Given the description of an element on the screen output the (x, y) to click on. 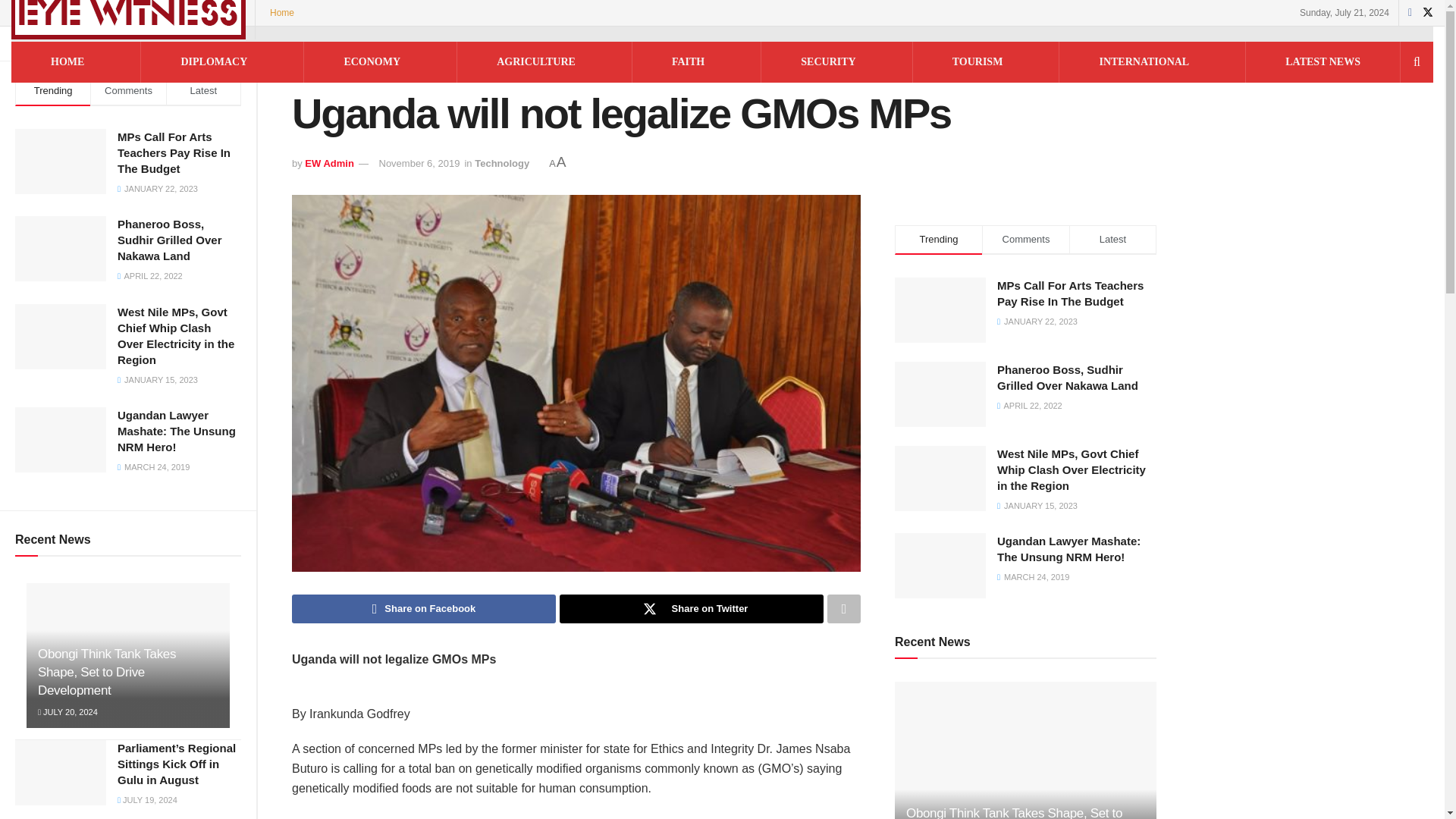
Obongi Think Tank Takes Shape, Set to Drive Development (106, 672)
Phaneroo Boss, Sudhir Grilled Over Nakawa Land (169, 239)
Ugandan Lawyer Mashate: The Unsung NRM Hero! (176, 430)
JULY 19, 2024 (147, 799)
JULY 20, 2024 (67, 711)
MPs Call For Arts Teachers Pay Rise In The Budget (173, 152)
